Given the description of an element on the screen output the (x, y) to click on. 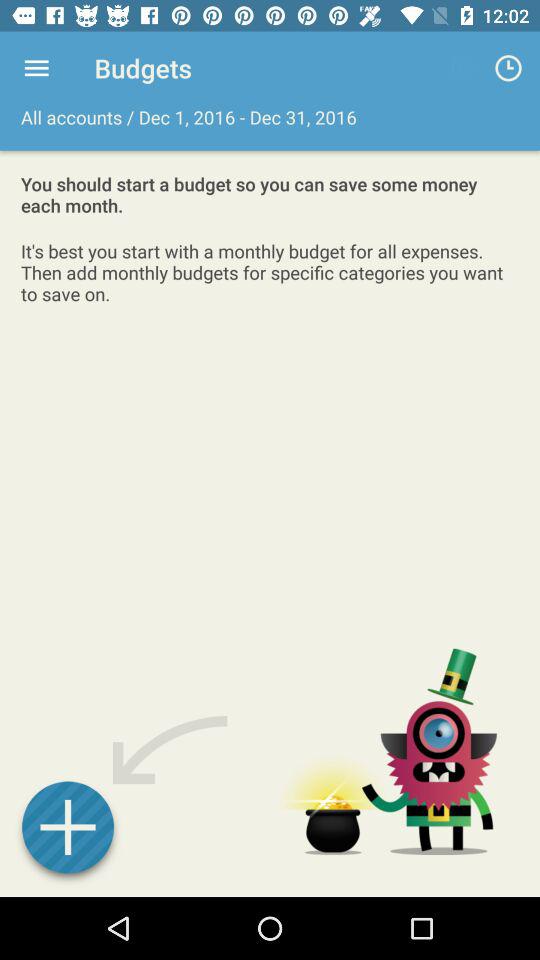
turn off the app above the all accounts dec item (36, 68)
